Given the description of an element on the screen output the (x, y) to click on. 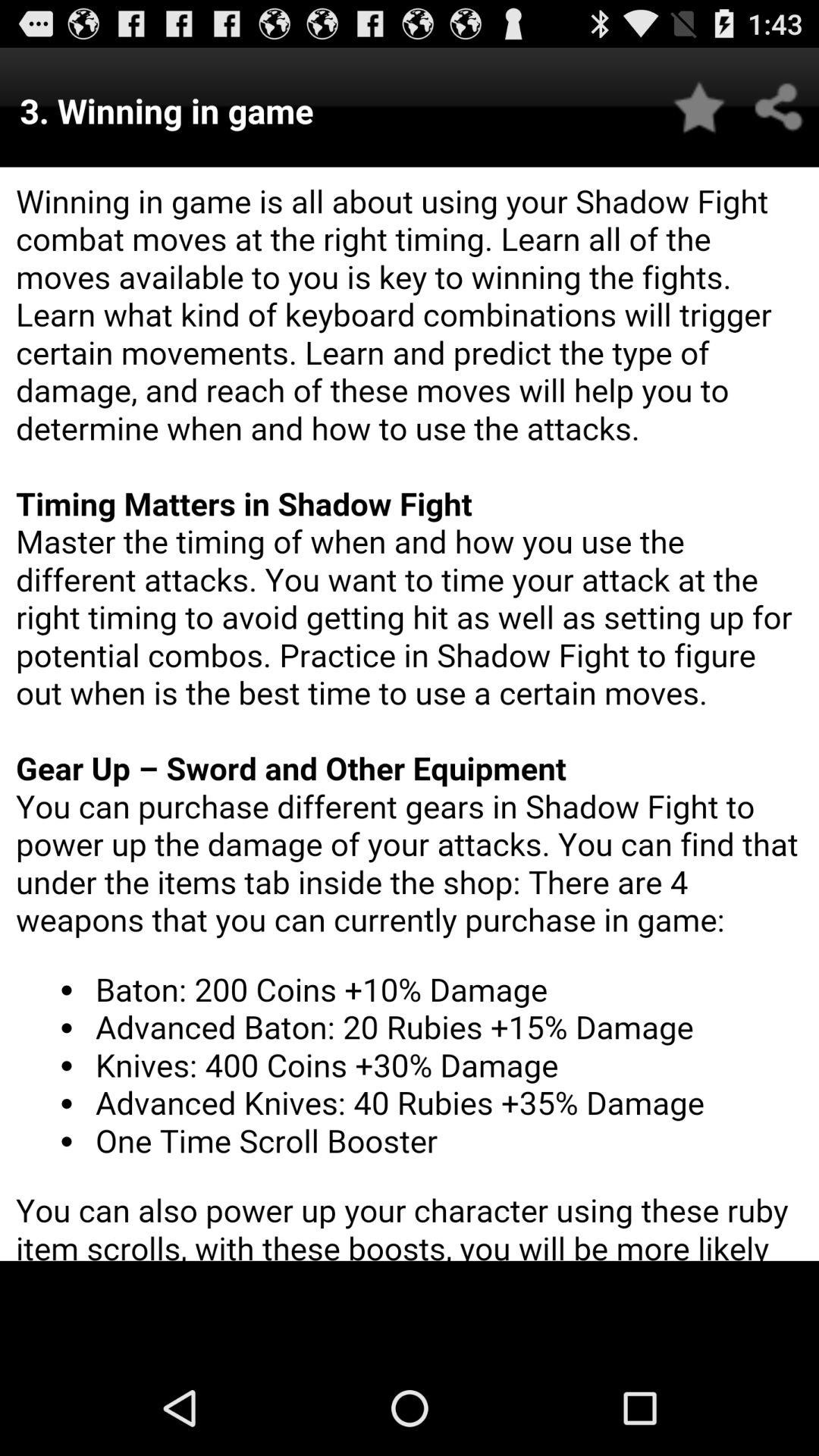
share button (779, 107)
